Given the description of an element on the screen output the (x, y) to click on. 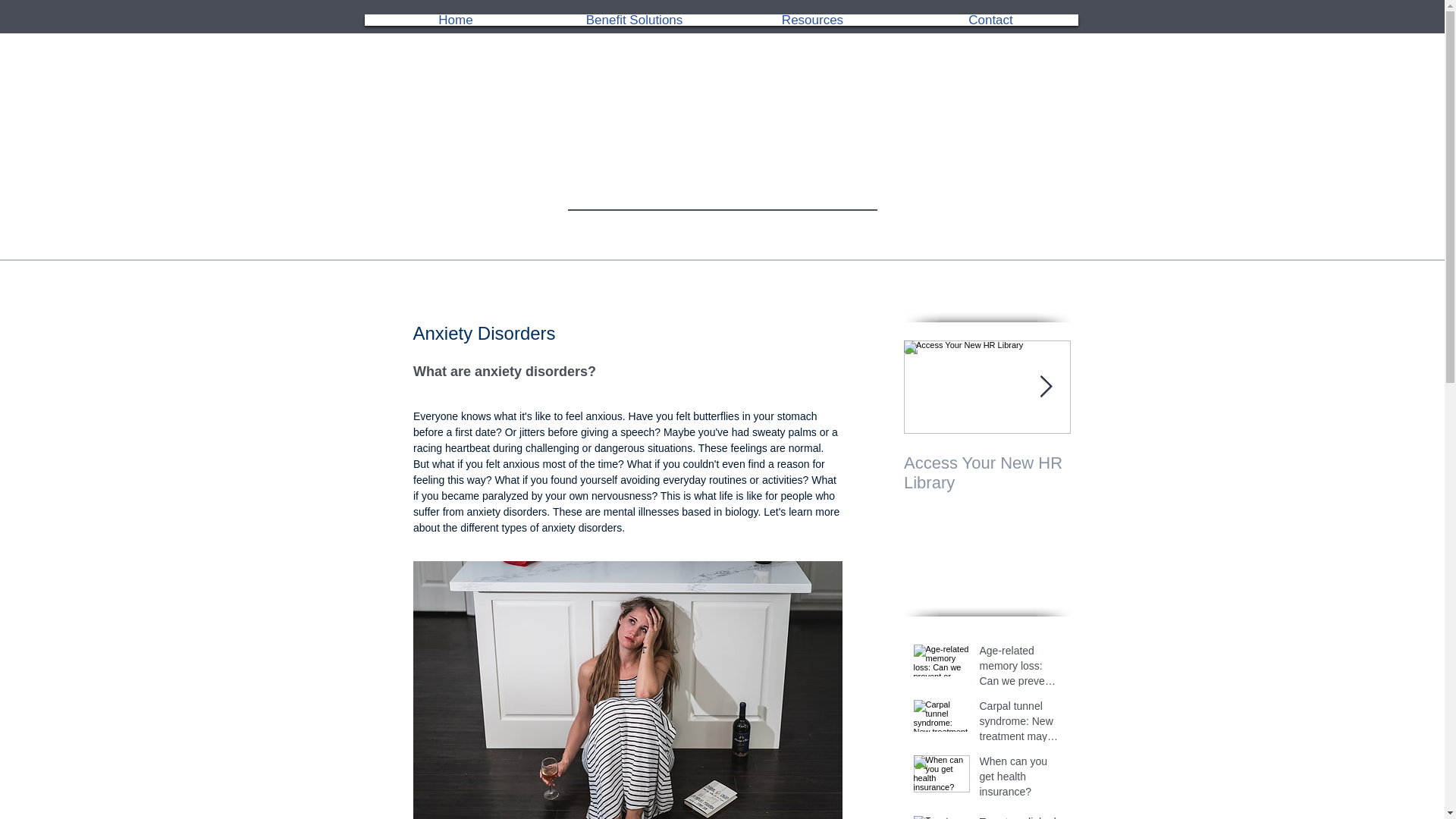
When can you get health insurance? (1020, 779)
Resources (812, 19)
Tomatoes linked to improved gut health, study finds (1020, 816)
Contact (991, 19)
Access Your New HR Library (987, 473)
Benefit Solutions (634, 19)
Age-related memory loss: Can we prevent or even reverse it? (1020, 668)
Home (455, 19)
Ben Kowalski: HAHU Leader of Excellence (1153, 473)
